Given the description of an element on the screen output the (x, y) to click on. 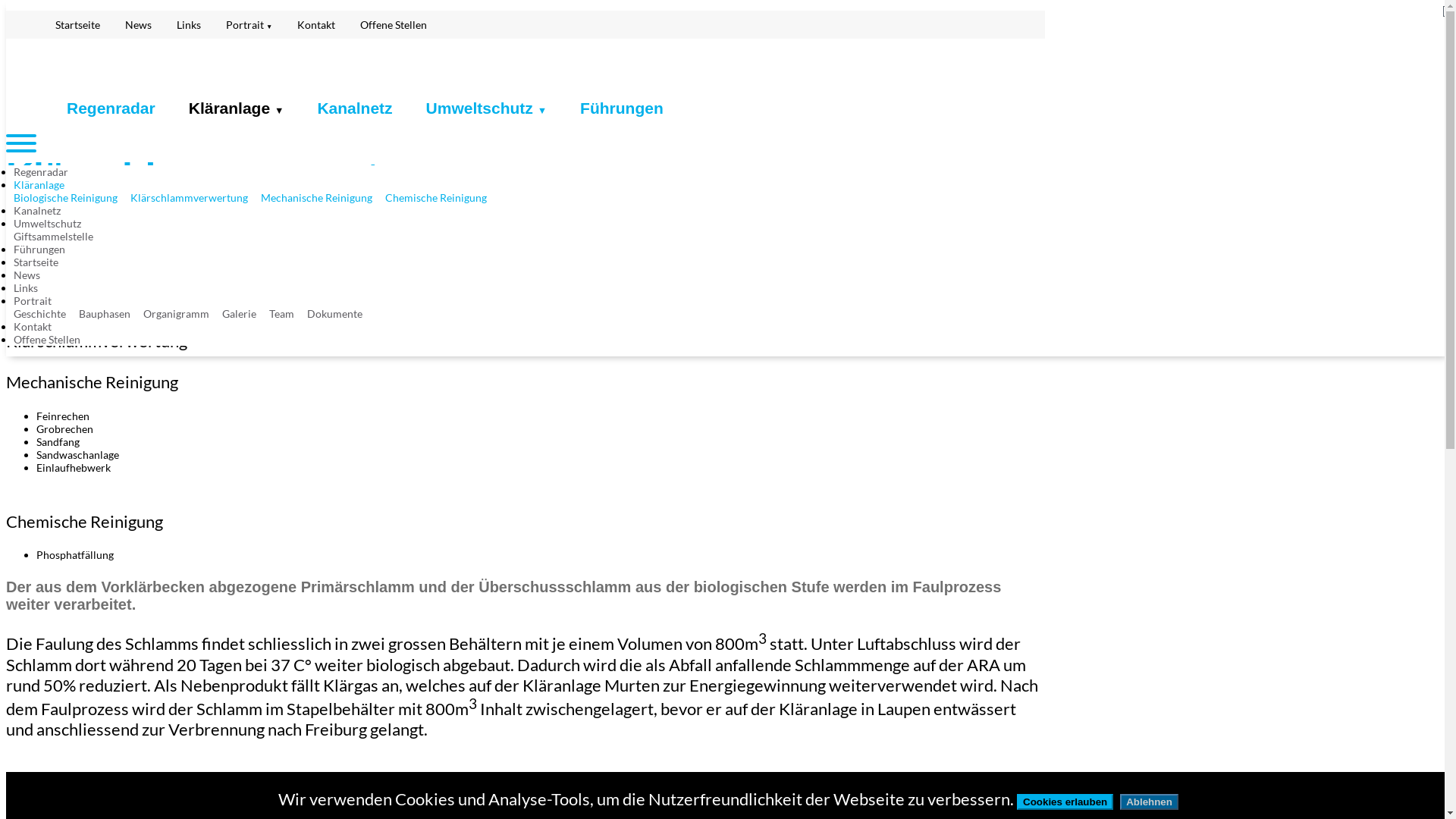
Links Element type: text (30, 287)
Kontakt Element type: text (316, 24)
Startseite Element type: text (77, 24)
Portrait Element type: text (37, 300)
Kanalnetz Element type: text (354, 107)
Organigramm Element type: text (181, 313)
Umweltschutz Element type: text (52, 223)
Regenradar Element type: text (110, 107)
Offene Stellen Element type: text (393, 24)
Chemische Reinigung Element type: text (441, 197)
Startseite Element type: text (41, 261)
Galerie Element type: text (244, 313)
Ablehnen Element type: text (1149, 801)
Geschichte Element type: text (44, 313)
Offene Stellen Element type: text (52, 339)
Biologische Reinigung Element type: text (70, 197)
Regenradar Element type: text (45, 171)
Team Element type: text (286, 313)
Cookies erlauben Element type: text (1064, 801)
Bauphasen Element type: text (109, 313)
Links Element type: text (188, 24)
Mechanische Reinigung Element type: text (321, 197)
News Element type: text (31, 274)
Kanalnetz Element type: text (42, 210)
Kontakt Element type: text (37, 326)
News Element type: text (138, 24)
Dokumente Element type: text (340, 313)
Giftsammelstelle Element type: text (58, 236)
